Given the description of an element on the screen output the (x, y) to click on. 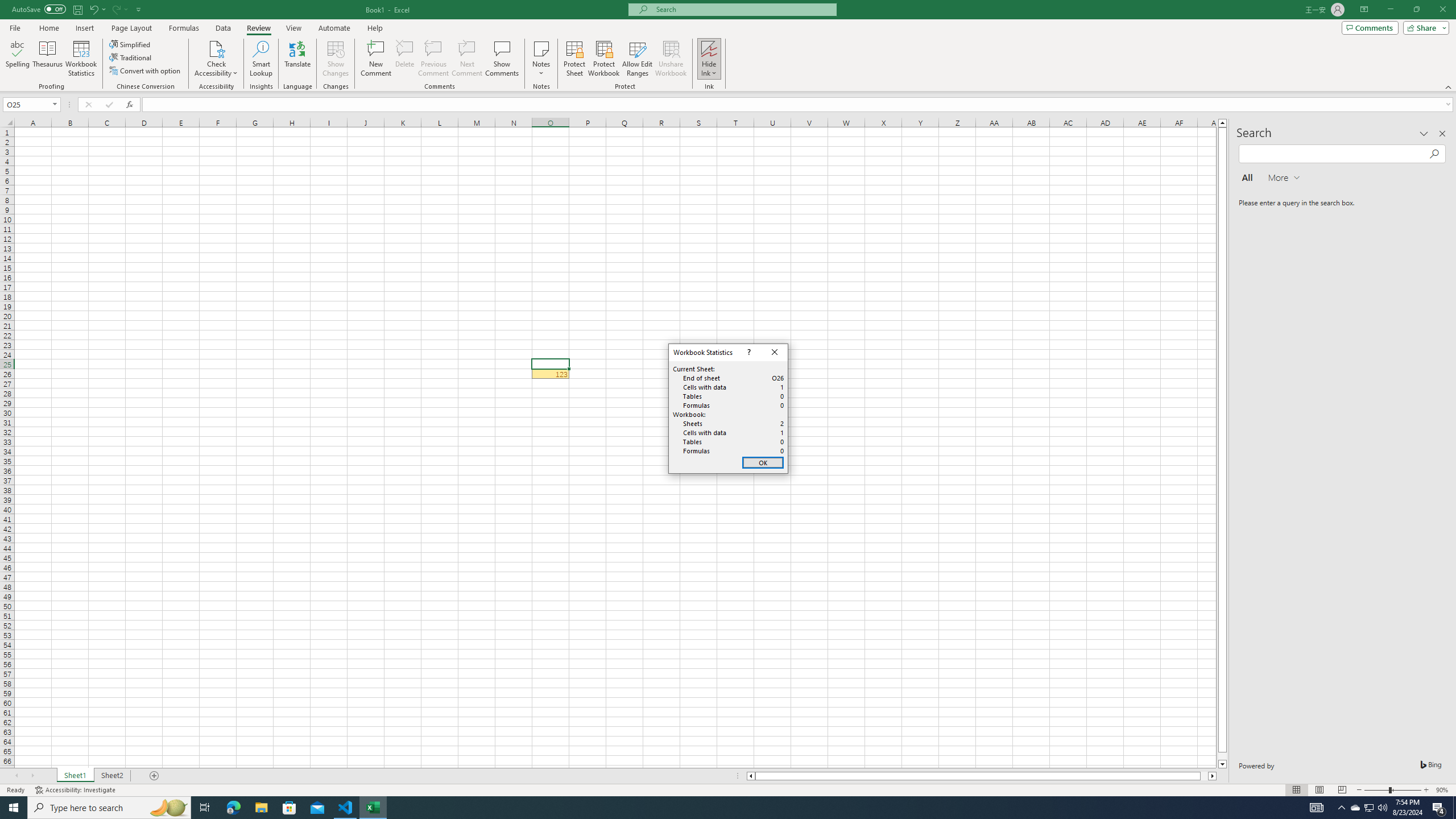
Review (258, 28)
Undo (92, 9)
Thesaurus... (47, 58)
Insert (83, 28)
Context help (748, 352)
Microsoft Store (289, 807)
User Promoted Notification Area (1368, 807)
AutomationID: 4105 (1316, 807)
Protect Workbook... (603, 58)
Page Layout (1318, 790)
Sheet2 (112, 775)
Save (77, 9)
